Given the description of an element on the screen output the (x, y) to click on. 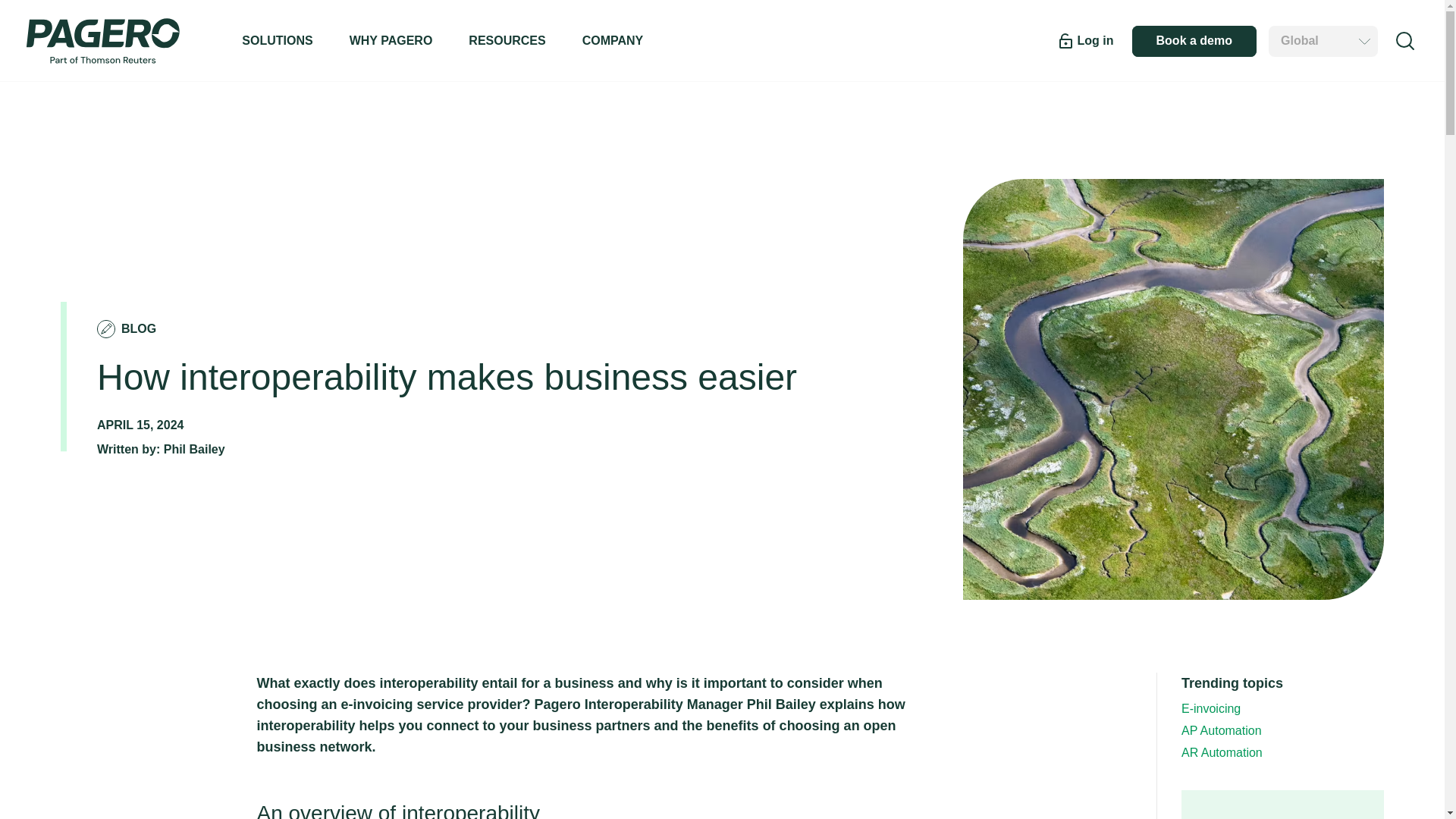
Book a demo (1194, 40)
Log in (1085, 40)
